Given the description of an element on the screen output the (x, y) to click on. 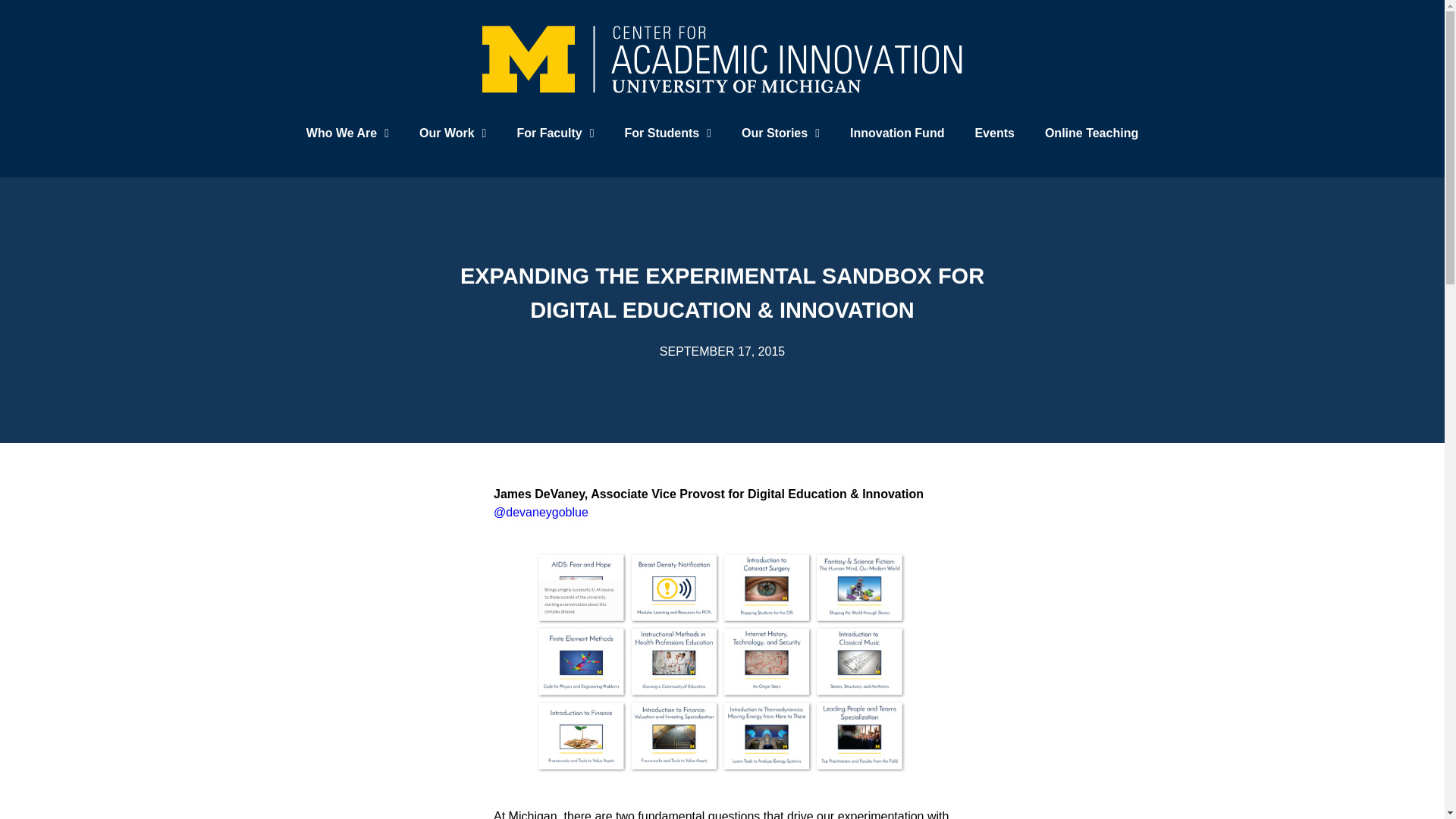
For Students (668, 132)
Innovation Fund (896, 132)
Events (994, 132)
Online Teaching (1091, 132)
Who We Are (347, 132)
Our Stories (780, 132)
For Faculty (554, 132)
Our Work (452, 132)
